Given the description of an element on the screen output the (x, y) to click on. 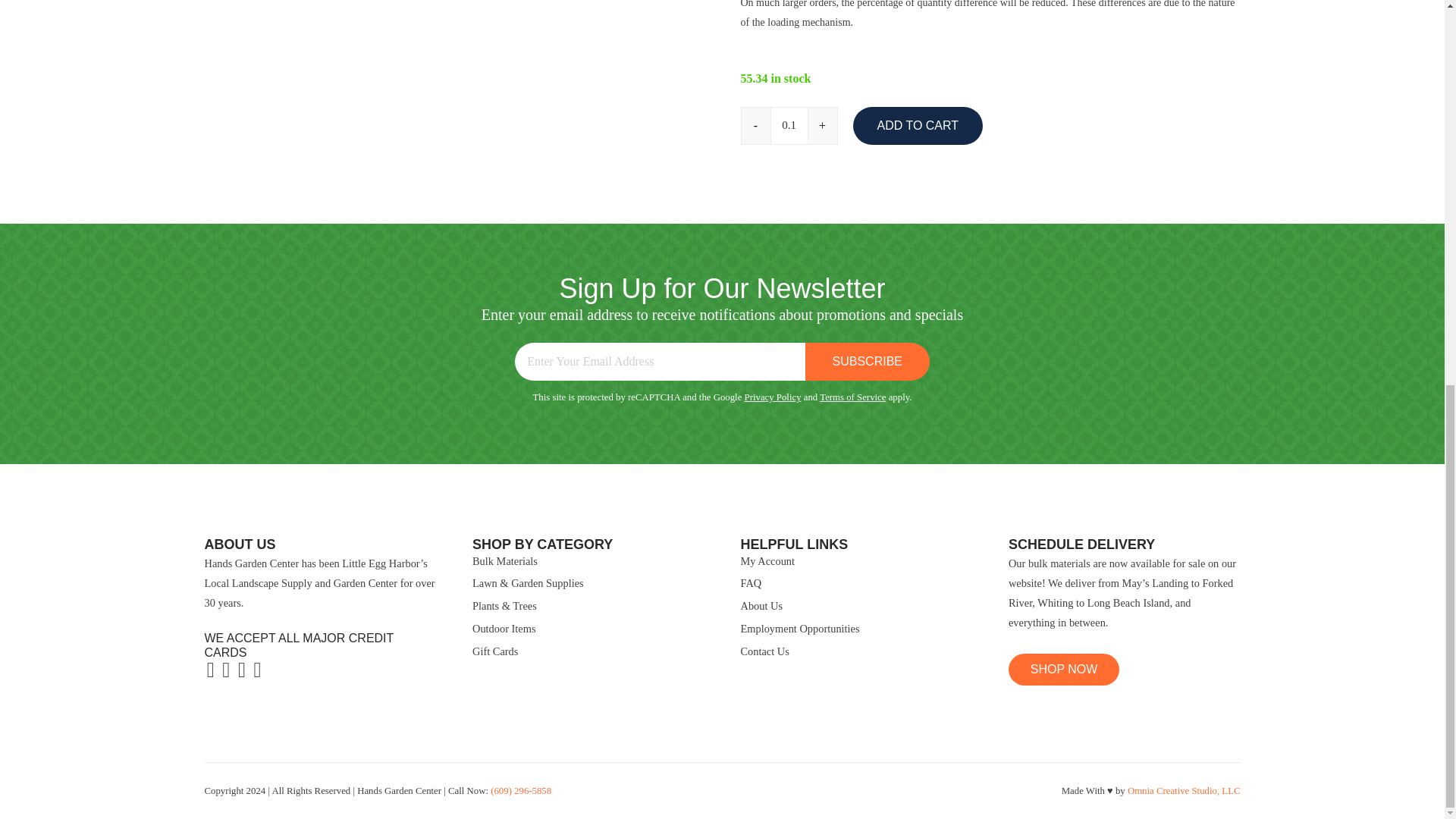
Qty (788, 125)
Shop (1064, 669)
0.1 (788, 125)
